Given the description of an element on the screen output the (x, y) to click on. 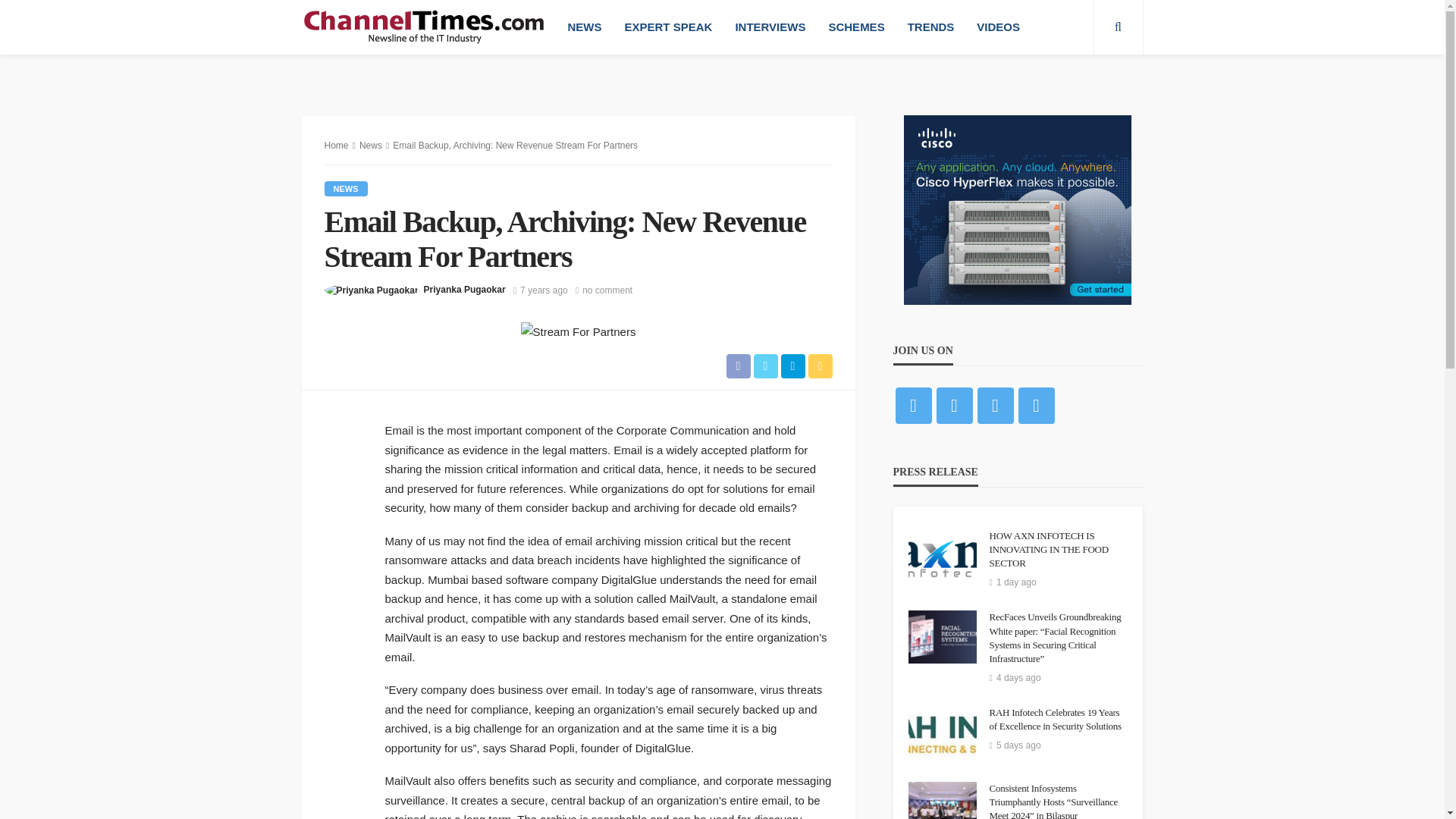
Home (336, 145)
no comment (606, 290)
EXPERT SPEAK (667, 27)
SCHEMES (855, 27)
News (370, 145)
ChannelTimes (424, 26)
Email Backup, Archiving: New Revenue Stream For Partners (606, 290)
TRENDS (931, 27)
VIDEOS (997, 27)
NEWS (584, 27)
NEWS (346, 188)
HOW AXN INFOTECH IS INNOVATING IN THE FOOD SECTOR (942, 555)
INTERVIEWS (769, 27)
Priyanka Pugaokar (464, 289)
News (346, 188)
